Given the description of an element on the screen output the (x, y) to click on. 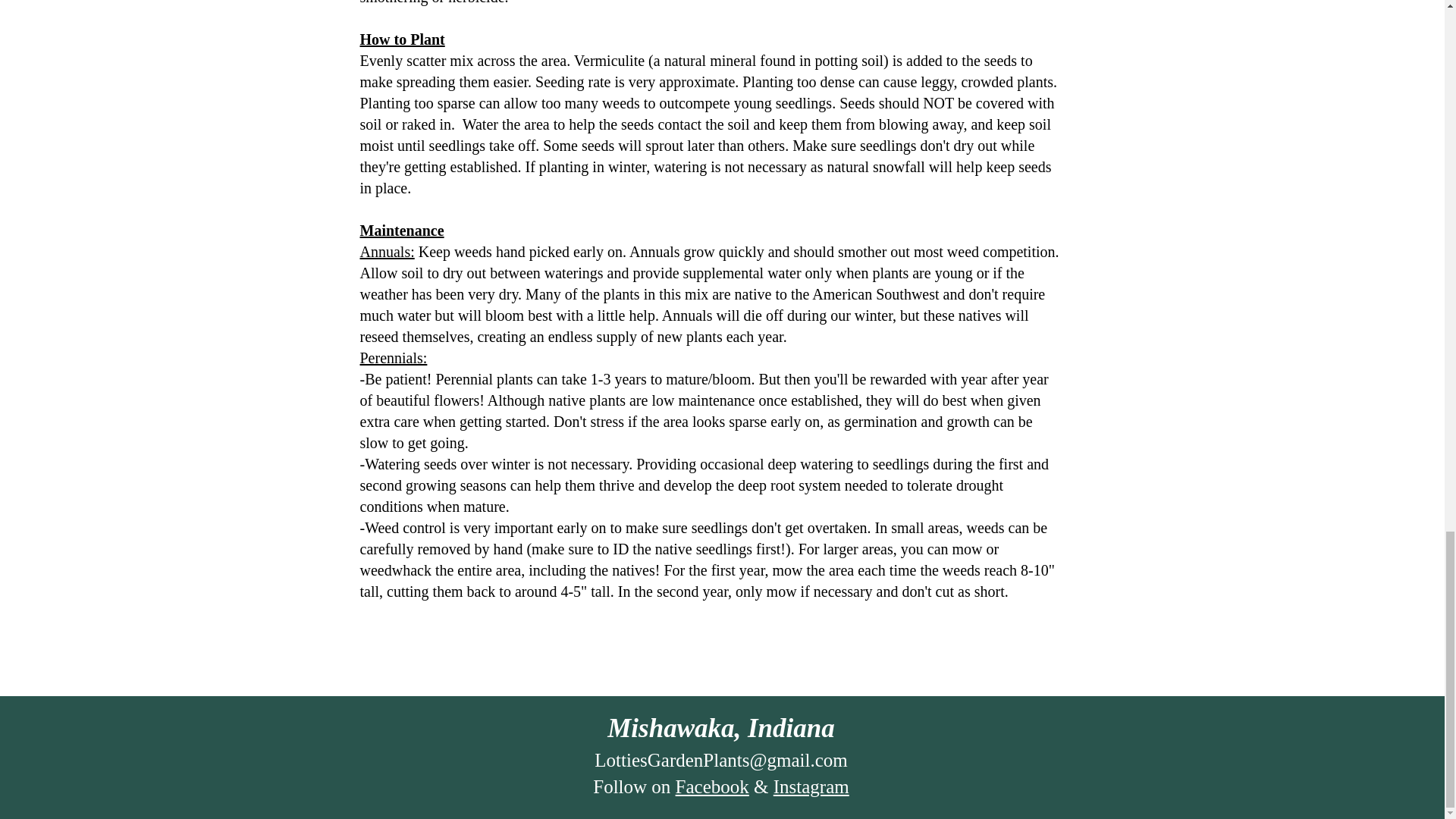
Instagram (810, 786)
Mishawaka, Indiana (720, 727)
Facebook (712, 786)
